Given the description of an element on the screen output the (x, y) to click on. 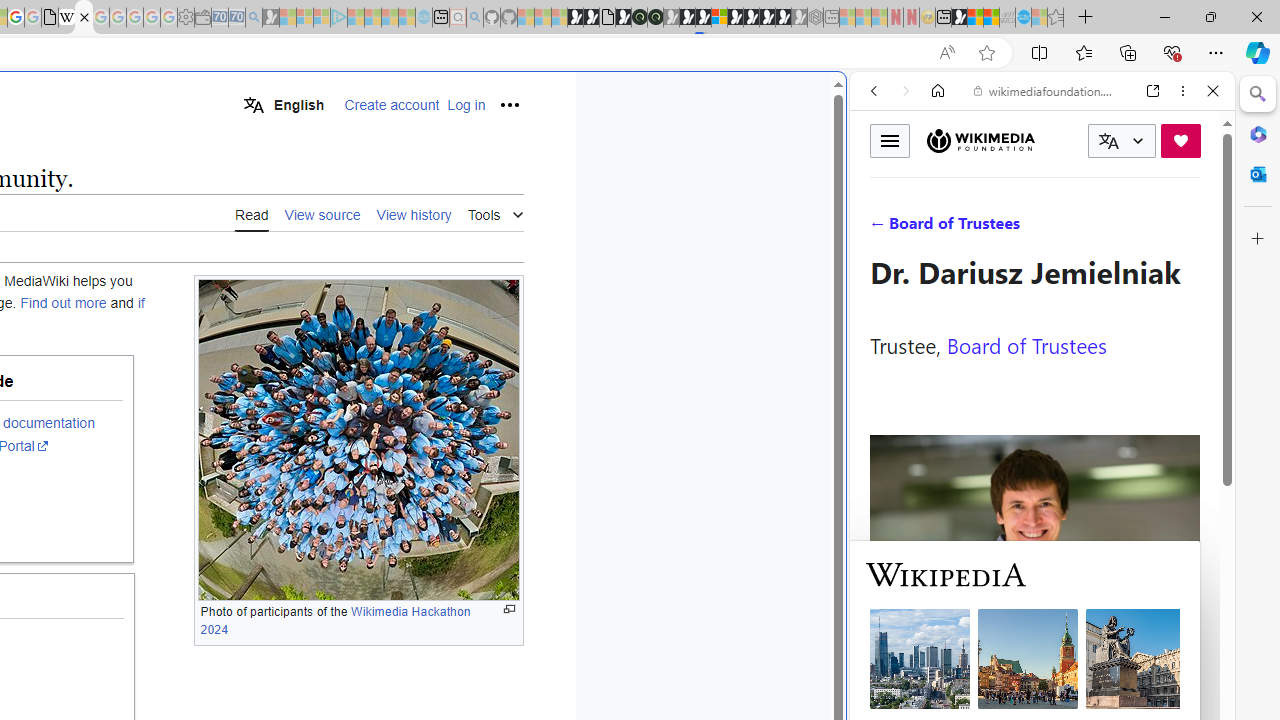
Wikimedia Foundation (980, 141)
Earth has six continents not seven, radical new study claims (991, 17)
Future Focus Report 2024 (655, 17)
CURRENT LANGUAGE: (1121, 141)
Find out more (63, 303)
Close split screen (844, 102)
Create account (392, 105)
